Given the description of an element on the screen output the (x, y) to click on. 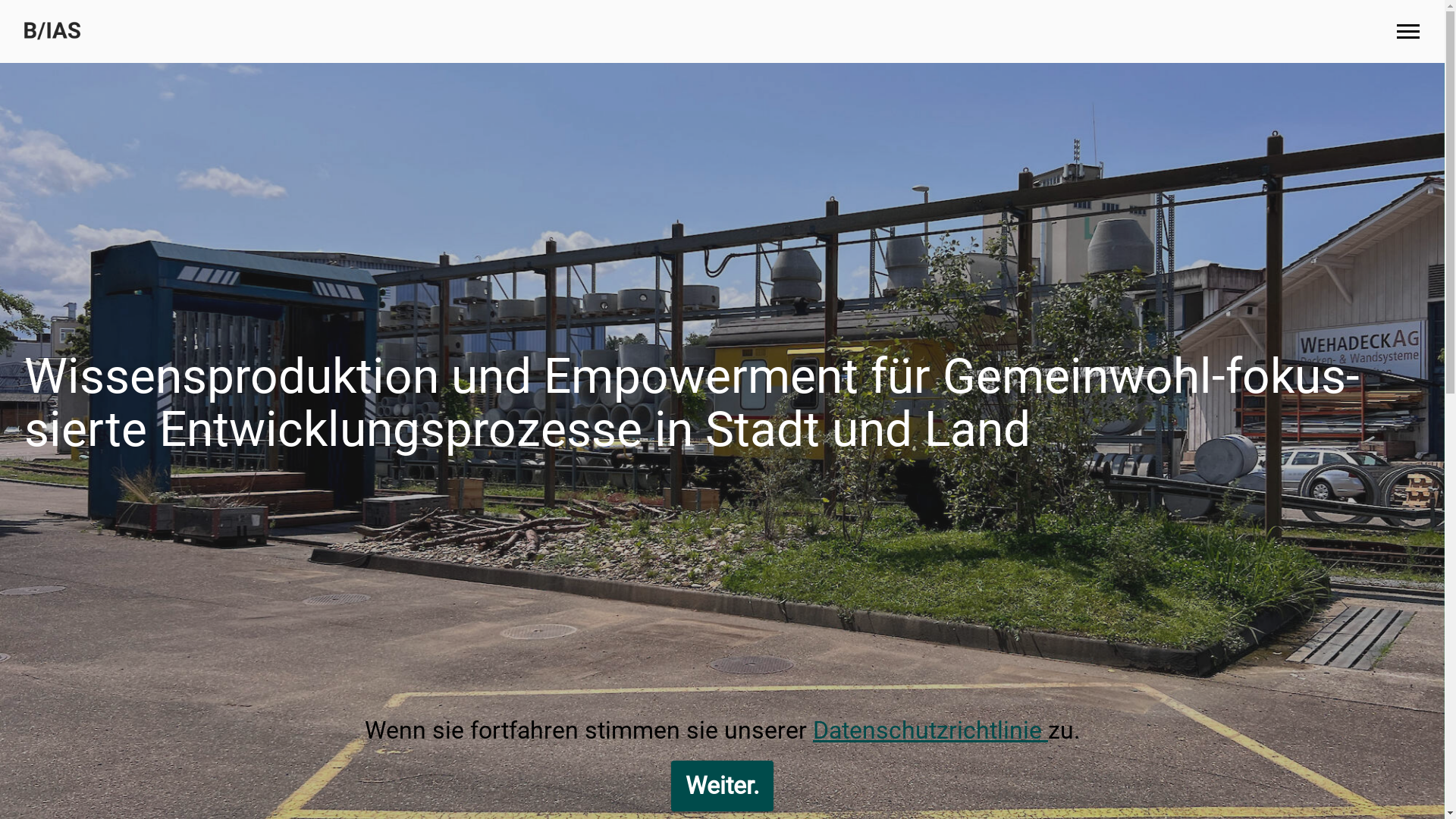
Datenschutzrichtlinie Element type: text (930, 729)
Weiter. Element type: text (722, 785)
